Given the description of an element on the screen output the (x, y) to click on. 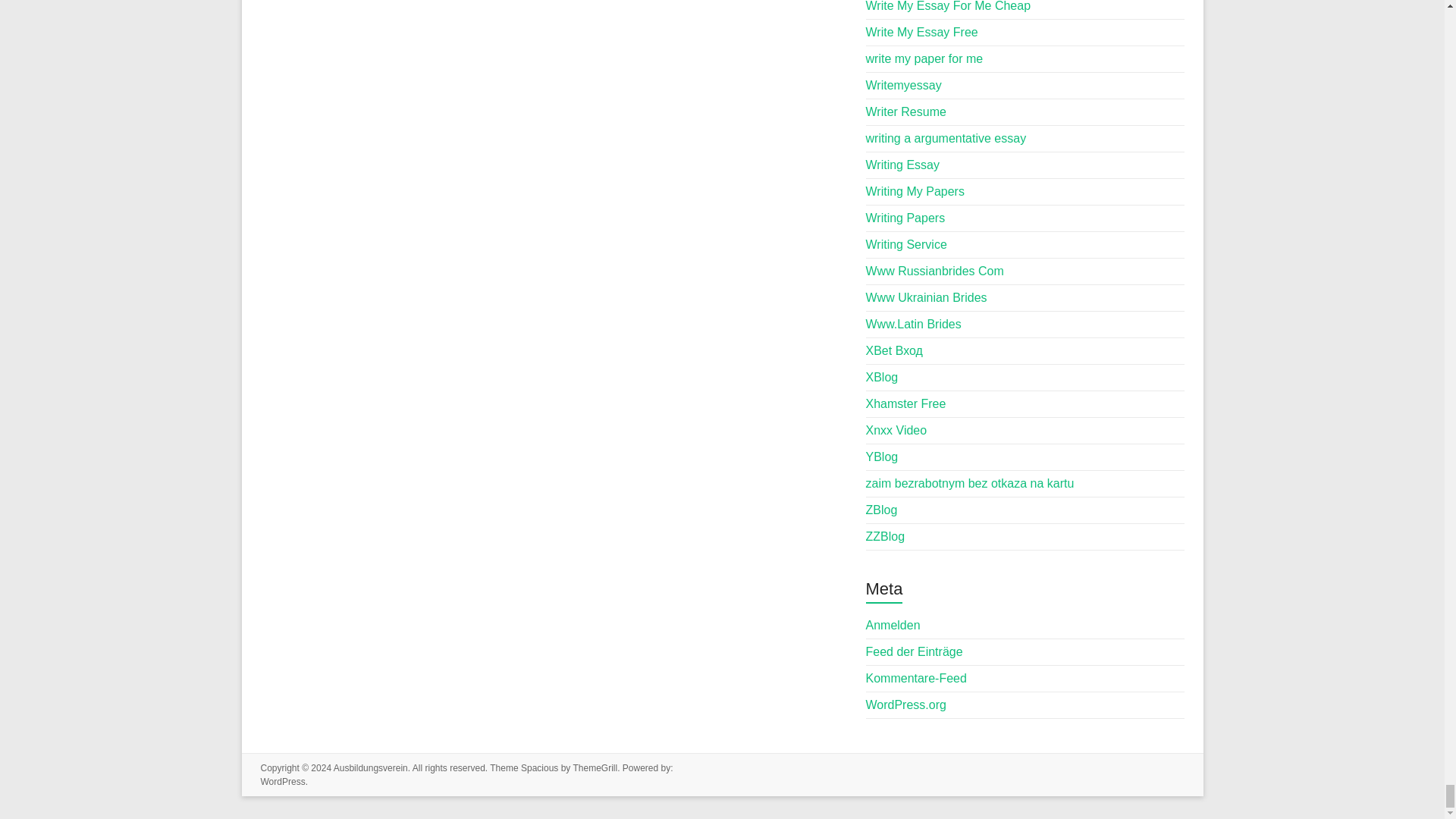
Ausbildungsverein (370, 767)
Spacious (539, 767)
WordPress (282, 781)
